Given the description of an element on the screen output the (x, y) to click on. 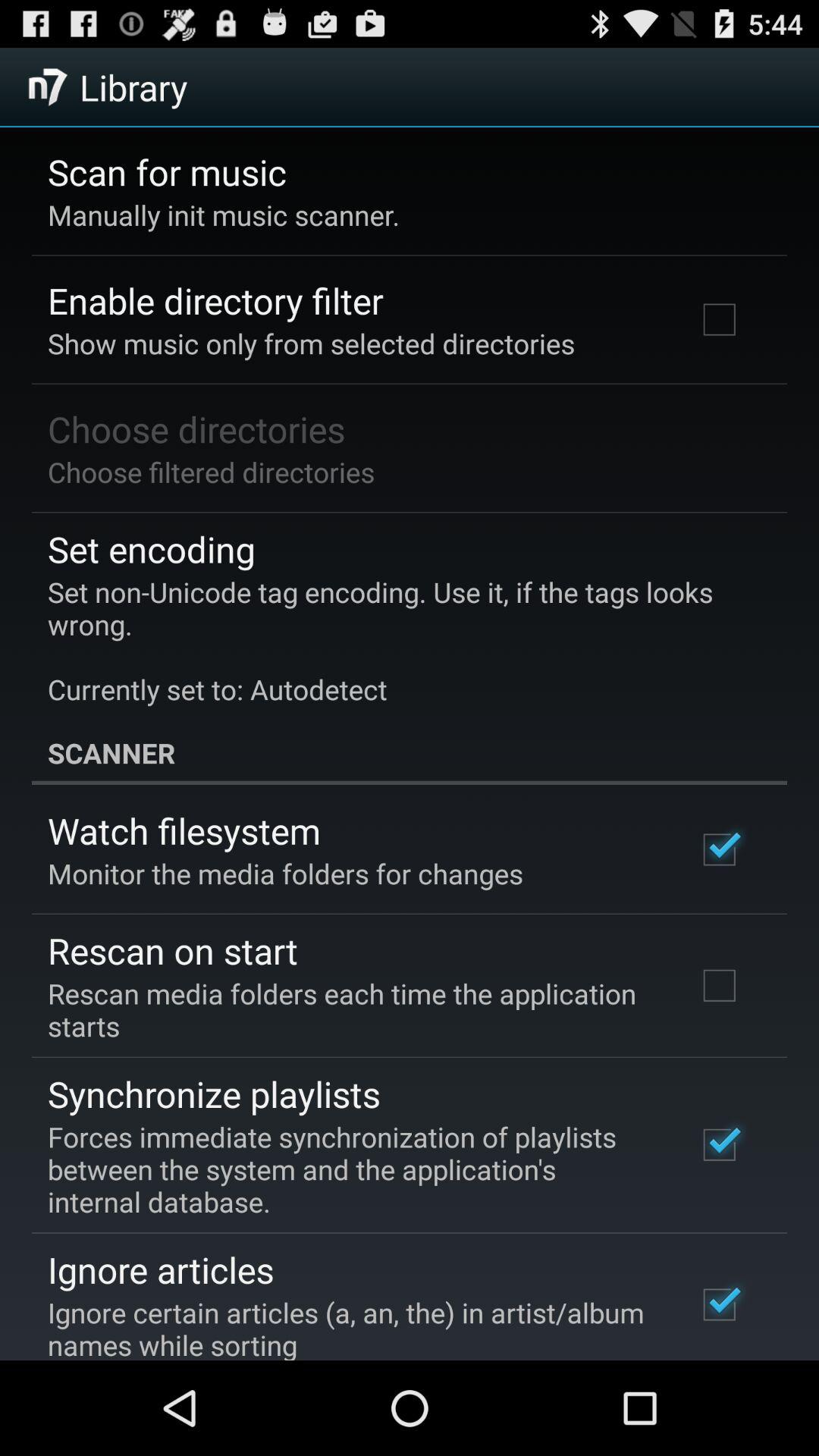
scroll to the scan for music item (166, 171)
